Given the description of an element on the screen output the (x, y) to click on. 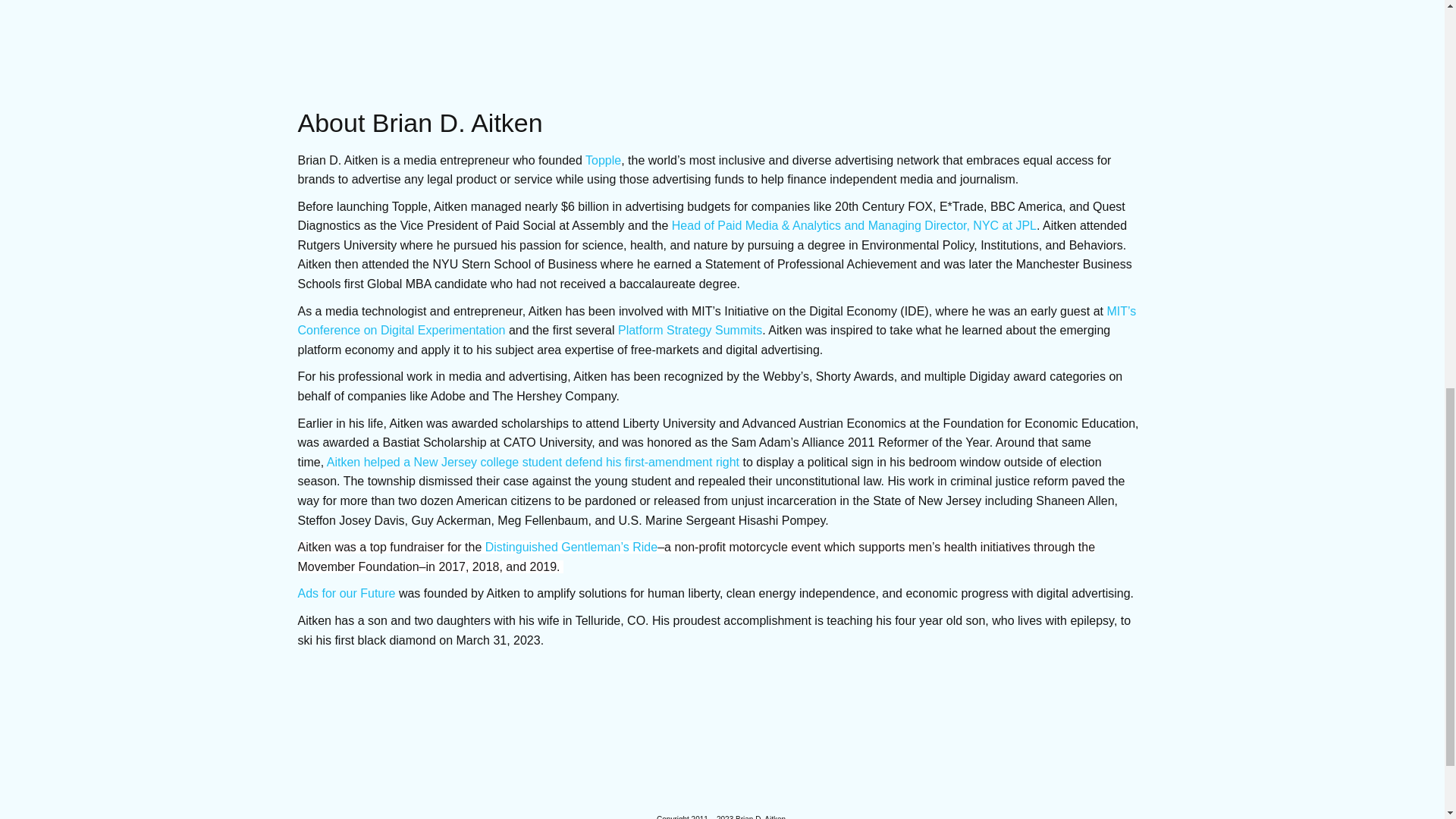
Ads for our Future (345, 593)
Topple (603, 159)
Platform Strategy Summits (689, 329)
